Given the description of an element on the screen output the (x, y) to click on. 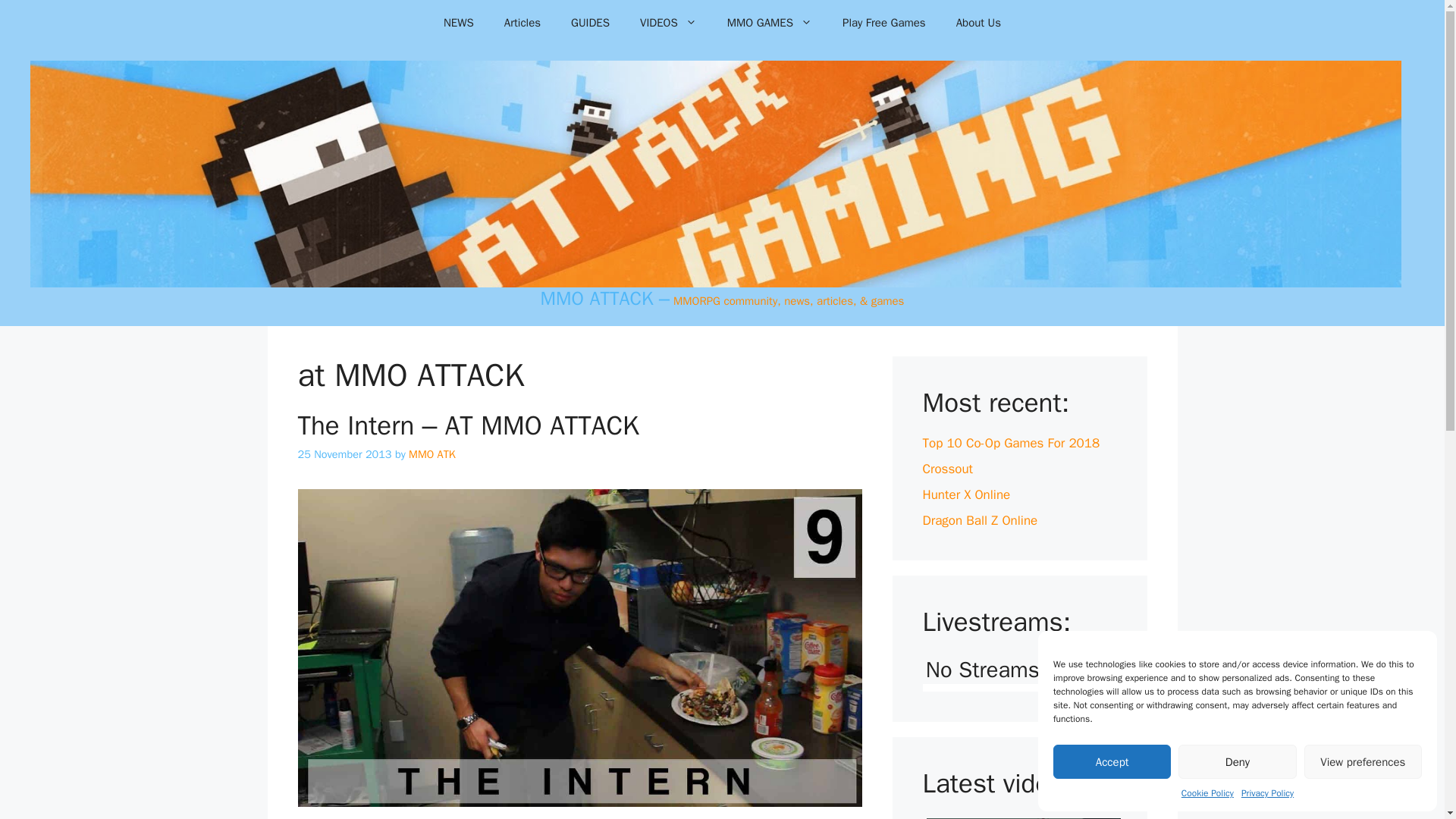
Privacy Policy (1267, 793)
NEWS (458, 22)
Deny (1236, 761)
VIDEOS (667, 22)
GUIDES (590, 22)
Accept (1111, 761)
MMO GAMES (769, 22)
View preferences (1363, 761)
View all posts by MMO ATK (432, 454)
